Given the description of an element on the screen output the (x, y) to click on. 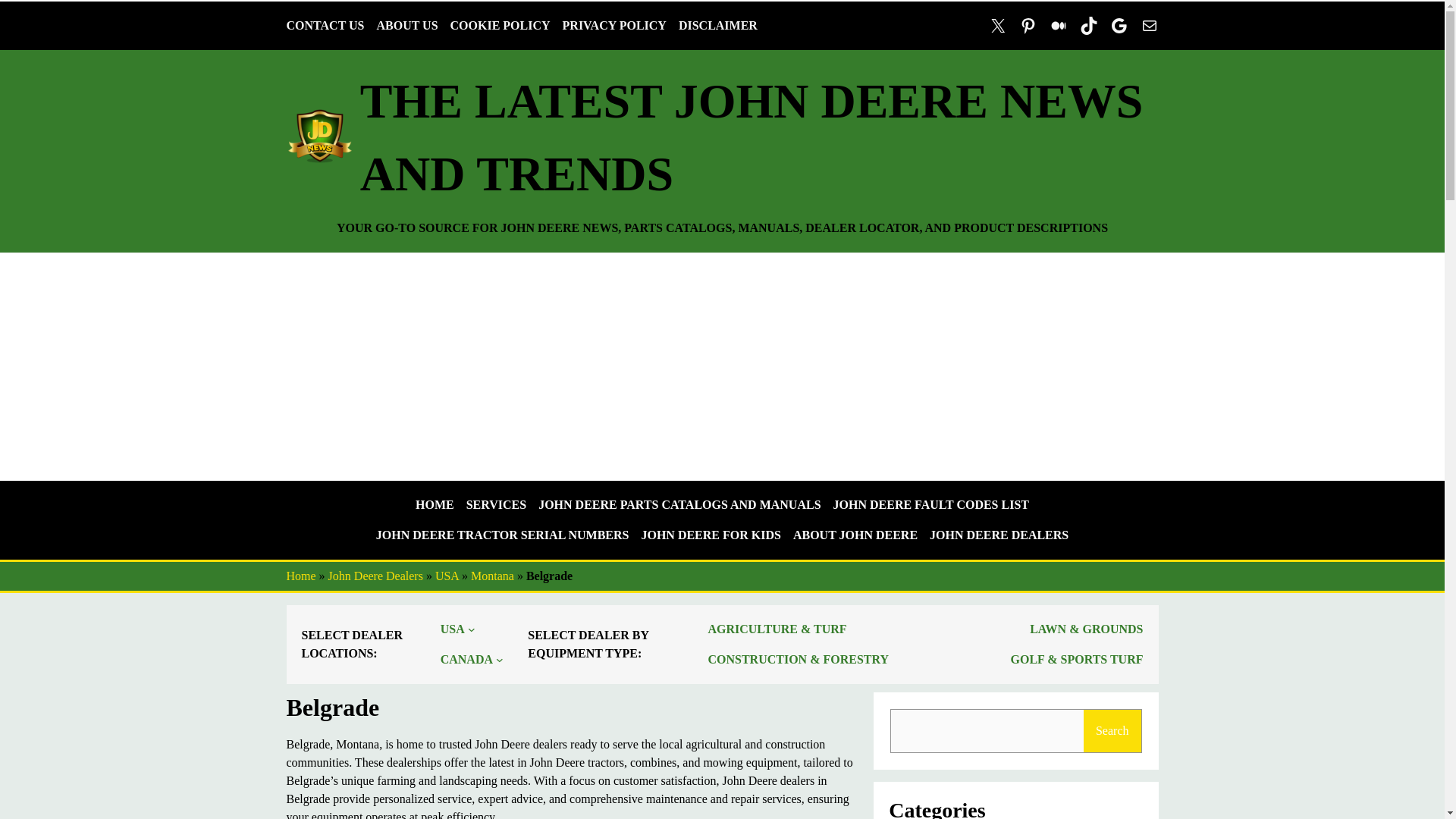
CONTACT US (325, 25)
COOKIE POLICY (499, 25)
Mail (1149, 25)
TikTok (1088, 25)
Medium (1058, 25)
SERVICES (495, 505)
HOME (434, 505)
Pinterest (1027, 25)
Google (1118, 25)
THE LATEST JOHN DEERE NEWS AND TRENDS (750, 137)
